Given the description of an element on the screen output the (x, y) to click on. 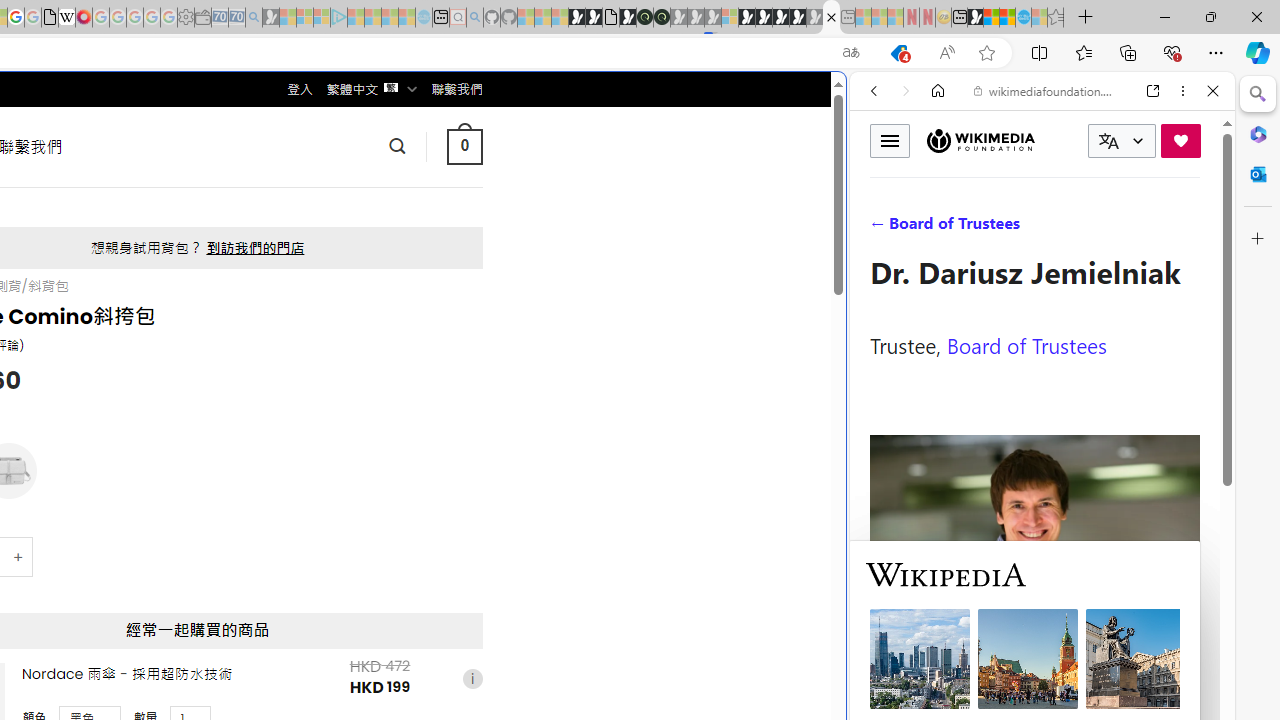
  0   (464, 146)
Wikimedia Foundation (980, 141)
wikimediafoundation.org (1045, 90)
